Given the description of an element on the screen output the (x, y) to click on. 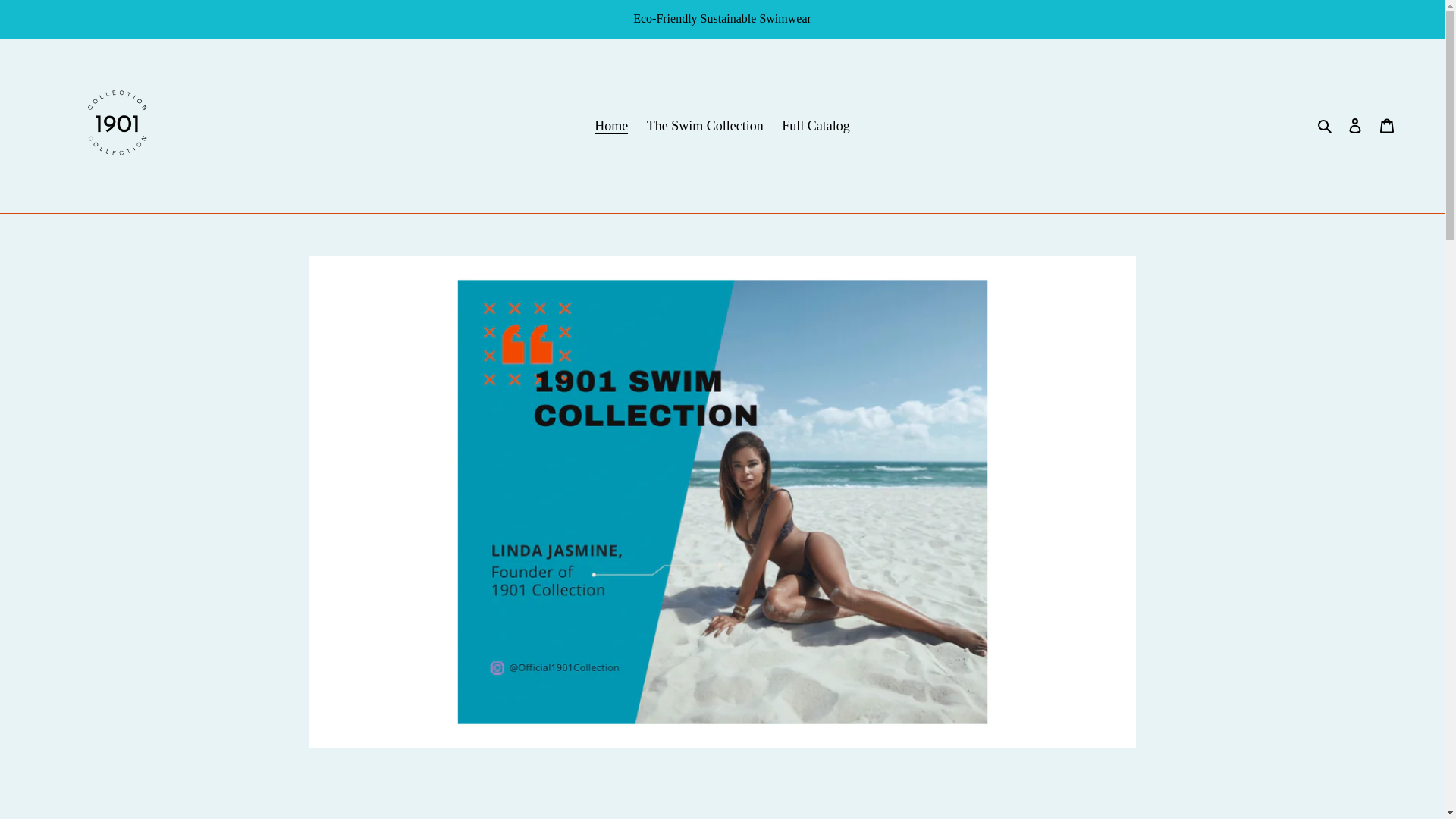
Search Element type: text (1325, 125)
Log in Element type: text (1355, 125)
Full Catalog Element type: text (815, 125)
The Swim Collection Element type: text (705, 125)
Home Element type: text (610, 125)
Cart Element type: text (1386, 125)
